Given the description of an element on the screen output the (x, y) to click on. 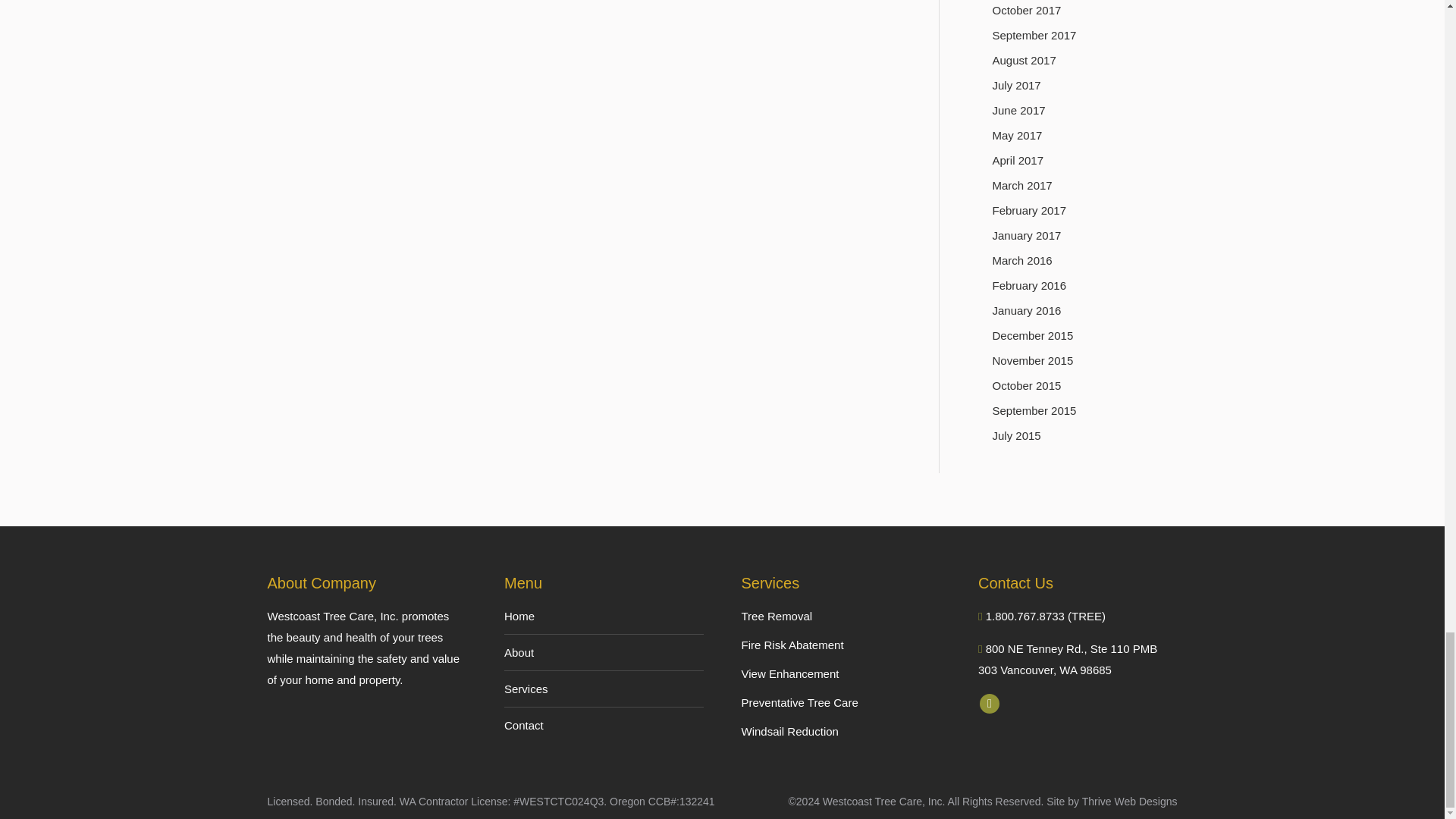
Facebook page opens in new window (988, 703)
